Given the description of an element on the screen output the (x, y) to click on. 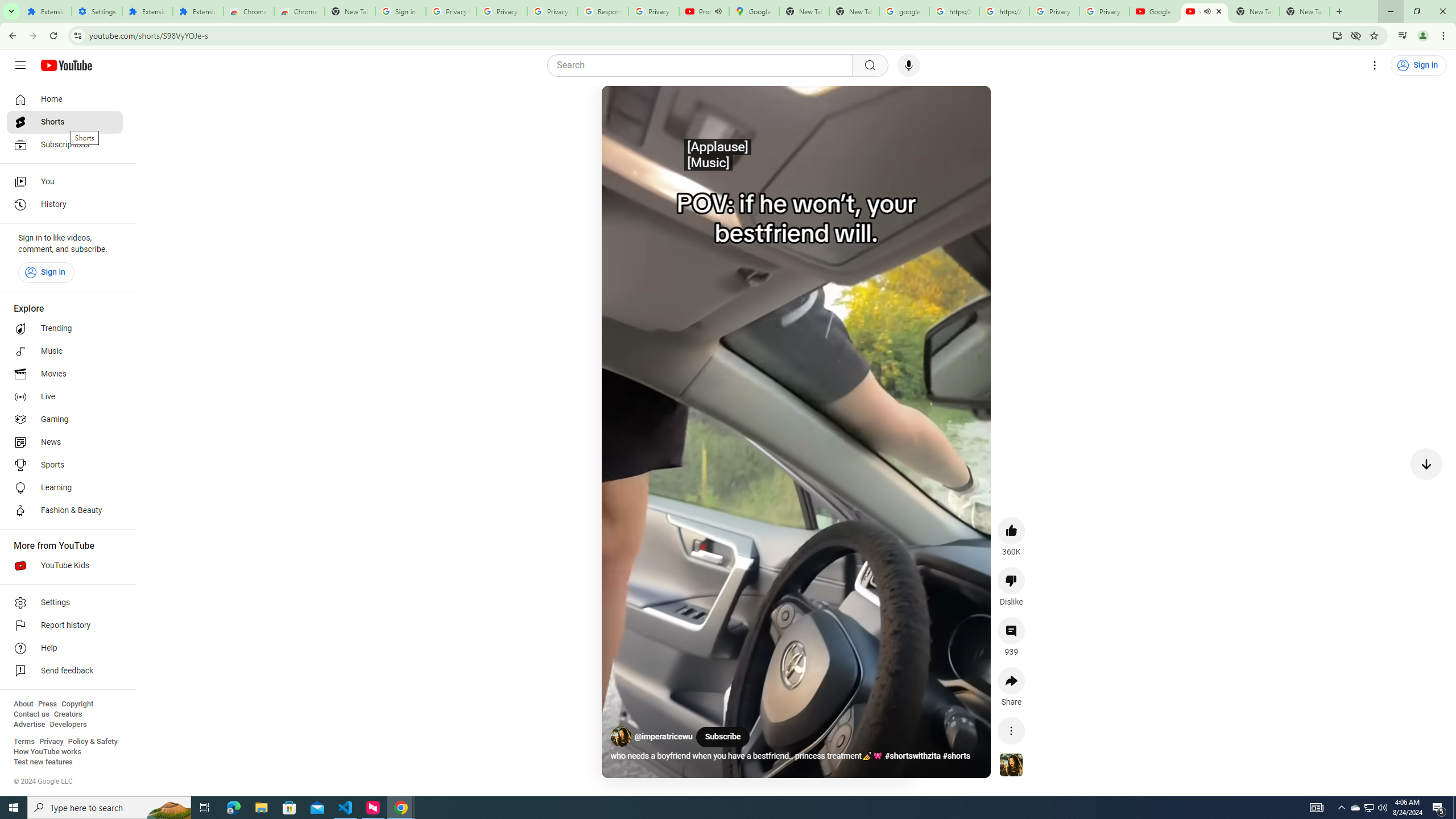
Sports (64, 464)
Sign in - Google Accounts (399, 11)
Settings (97, 11)
Learning (64, 487)
Policy & Safety (91, 741)
https://scholar.google.com/ (954, 11)
